Given the description of an element on the screen output the (x, y) to click on. 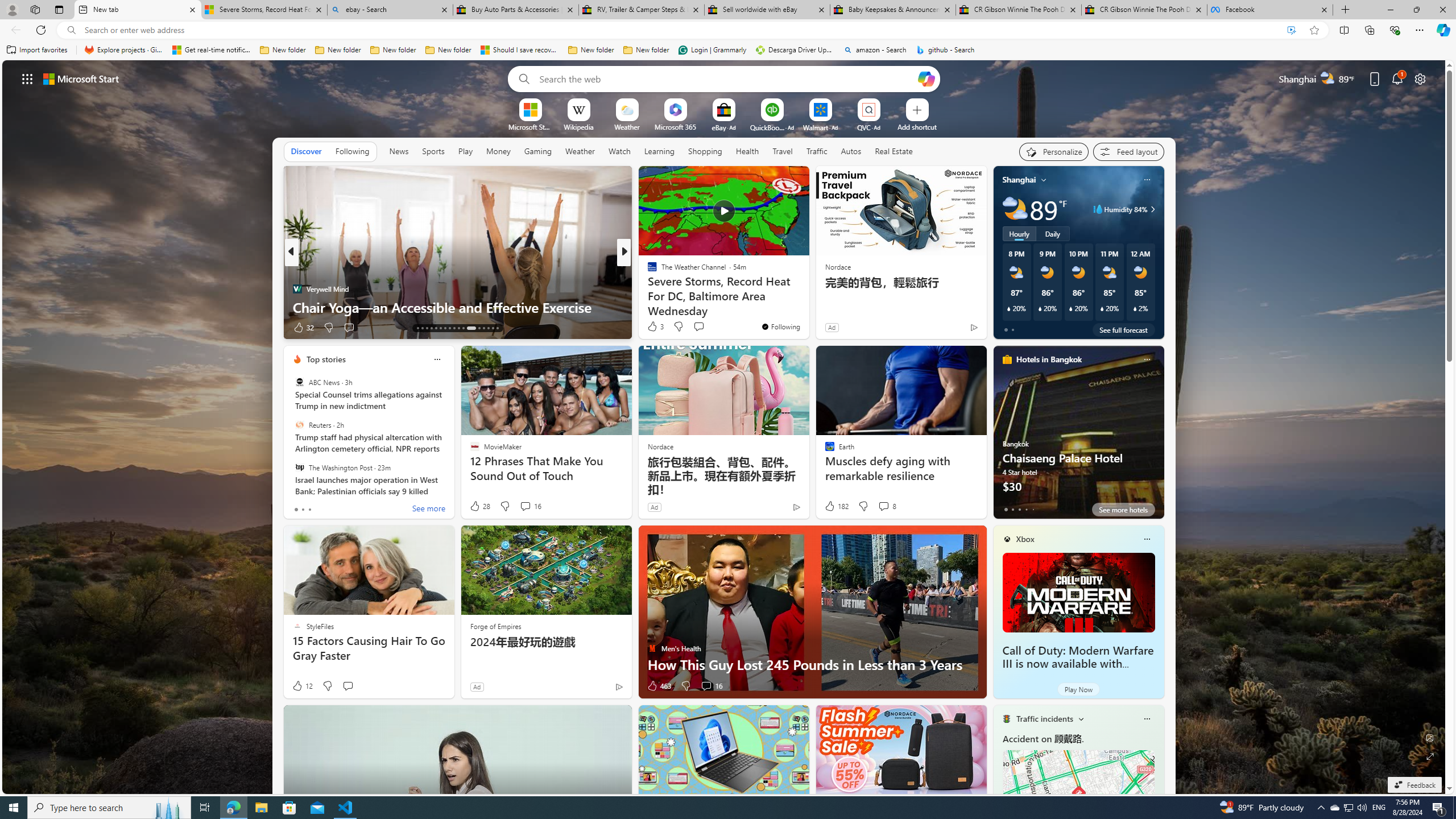
Travel (782, 151)
See full forecast (1123, 329)
Forge of Empires (495, 625)
tab-4 (1032, 509)
28 Like (479, 505)
Shanghai (1018, 179)
New folder (646, 49)
182 Like (835, 505)
Athletes That Died Far Too Young (807, 307)
Partly cloudy (1014, 208)
Expand background (1430, 756)
View comments 96 Comment (6, 327)
Autos (850, 151)
